Given the description of an element on the screen output the (x, y) to click on. 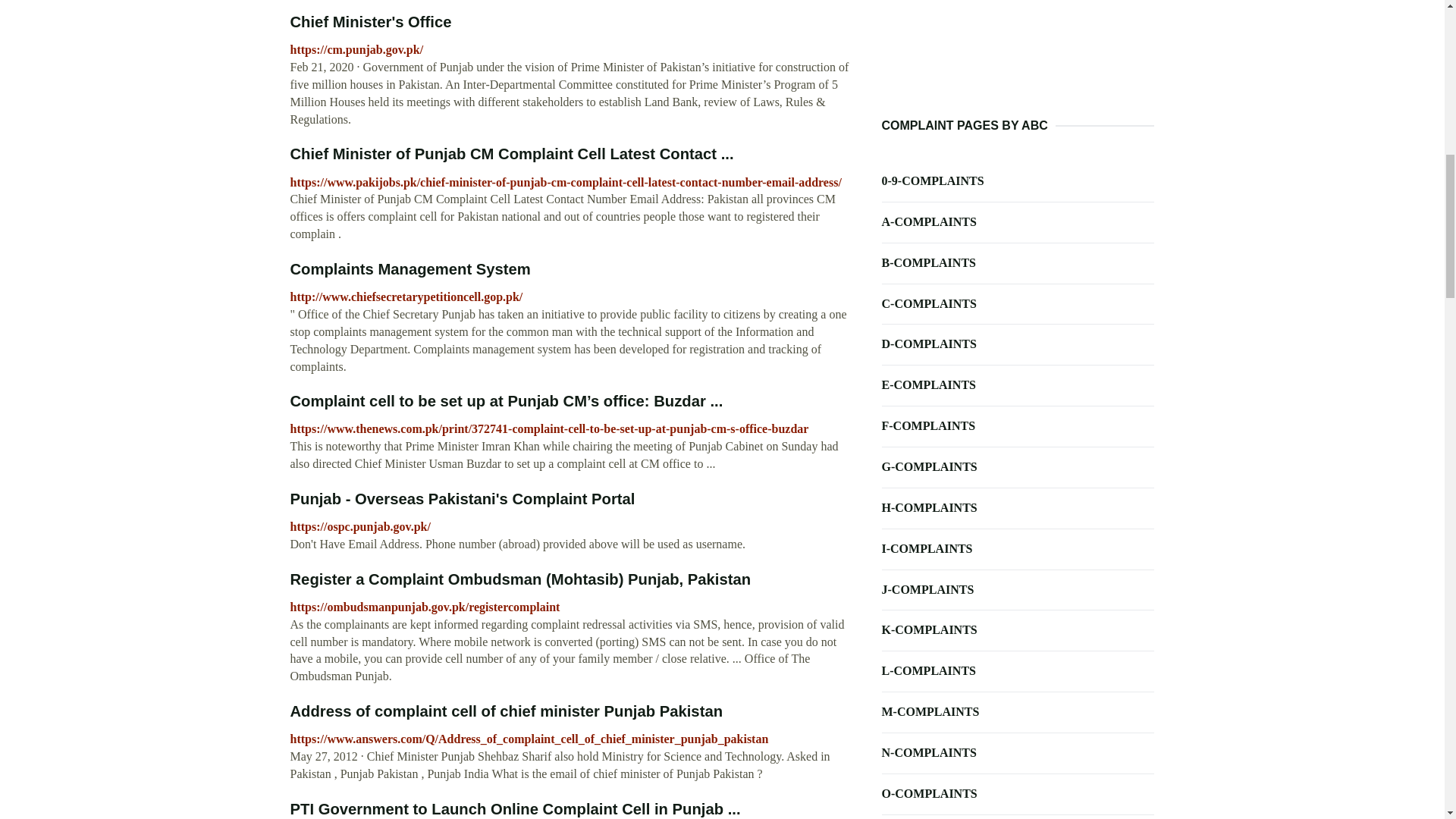
PTI Government to Launch Online Complaint Cell in Punjab ... (514, 808)
Chief Minister's Office (370, 21)
Address of complaint cell of chief minister Punjab Pakistan (505, 710)
Punjab - Overseas Pakistani's Complaint Portal (461, 498)
Complaints Management System (409, 269)
Advertisement (1017, 58)
